Given the description of an element on the screen output the (x, y) to click on. 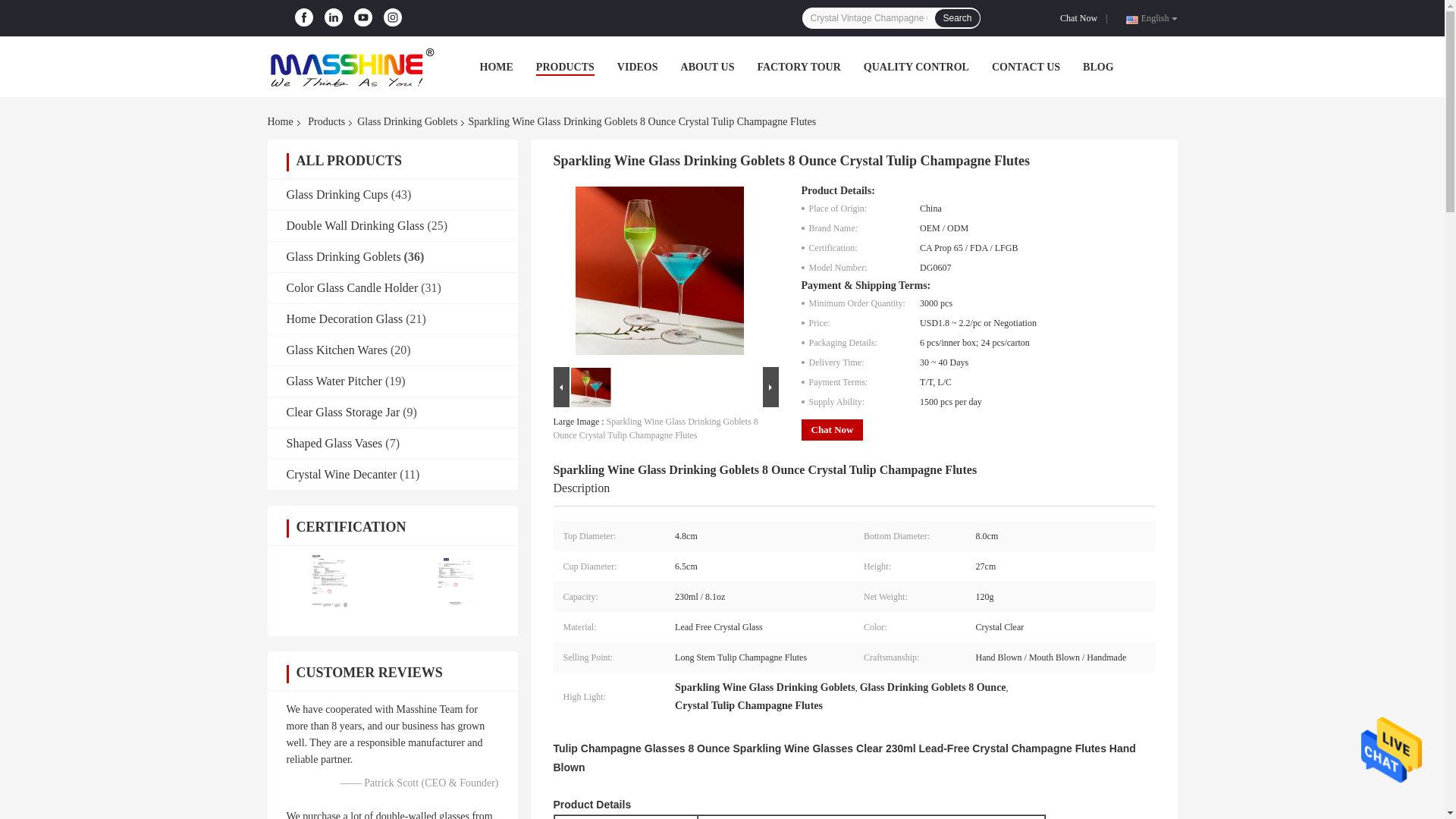
CONTACT US (1025, 66)
Search (956, 18)
HOME (495, 66)
PRODUCTS (564, 66)
FACTORY TOUR (798, 66)
XI'AN MASSHINE HOME PRODUCTS CO., LTD. YouTube (362, 17)
Products (325, 121)
BLOG (1098, 66)
Glass Drinking Goblets (406, 121)
XI'AN MASSHINE HOME PRODUCTS CO., LTD. LinkedIn (333, 17)
XI'AN MASSHINE HOME PRODUCTS CO., LTD. Instagram (392, 17)
Chat Now (1081, 18)
VIDEOS (637, 66)
XI'AN MASSHINE HOME PRODUCTS CO., LTD. Facebook (303, 17)
QUALITY CONTROL (916, 66)
